Given the description of an element on the screen output the (x, y) to click on. 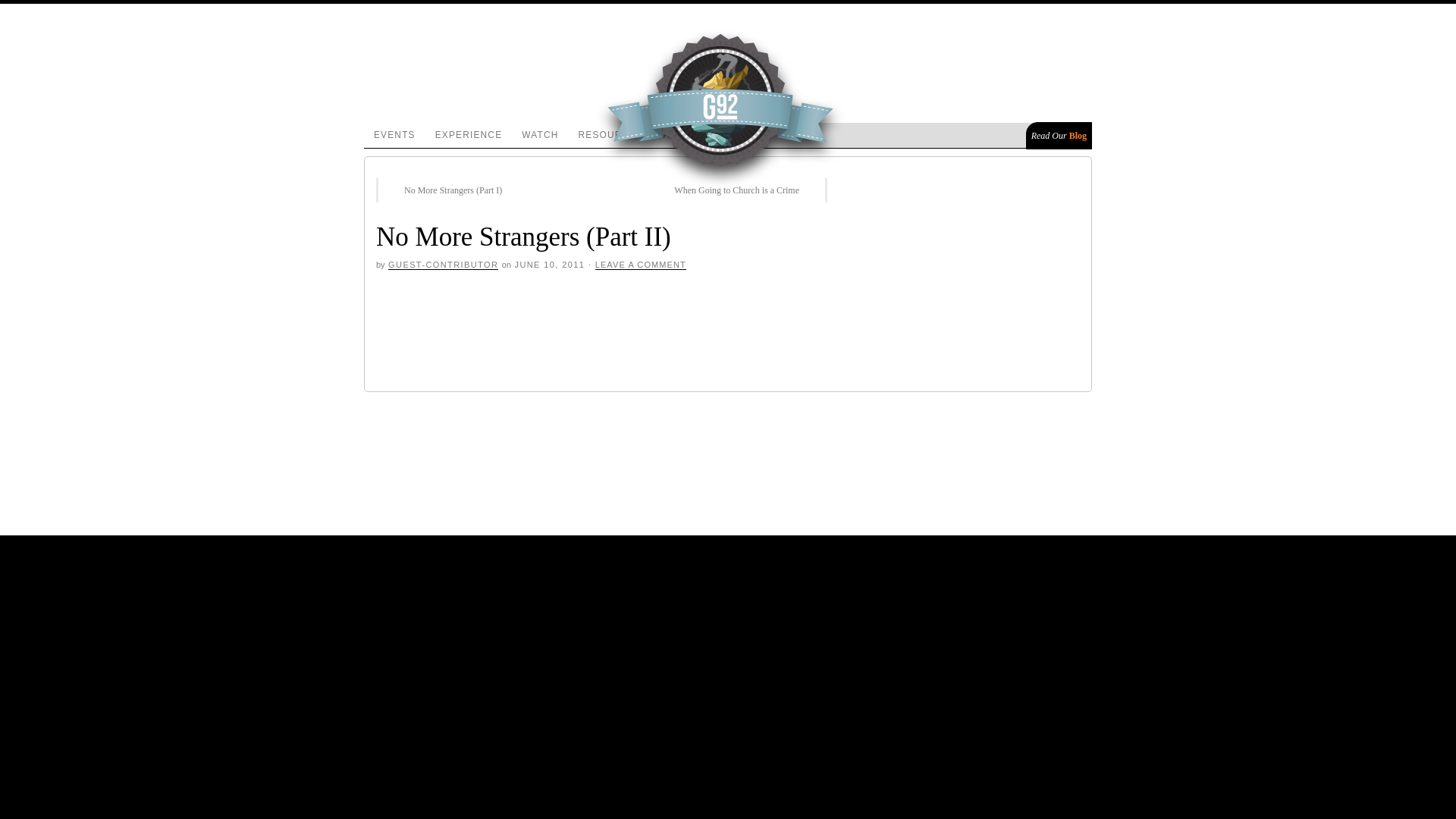
Posts by Guest-Contributor (442, 265)
Read Our Blog (1058, 135)
LEAVE A COMMENT (640, 265)
EXPERIENCE (468, 135)
EVENTS (394, 135)
When Going to Church is a Crime (745, 190)
2011-06-10T05:57:00-0500 (549, 264)
GUEST-CONTRIBUTOR (442, 265)
ABOUT (681, 135)
G92.org (504, 258)
WATCH (539, 135)
RESOURCES (611, 135)
